Given the description of an element on the screen output the (x, y) to click on. 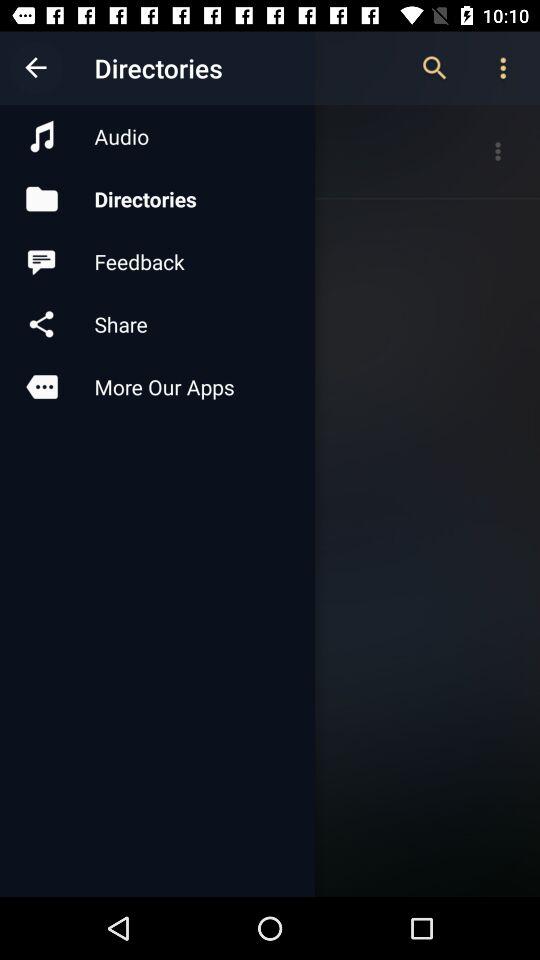
jump until the feedback (157, 261)
